Given the description of an element on the screen output the (x, y) to click on. 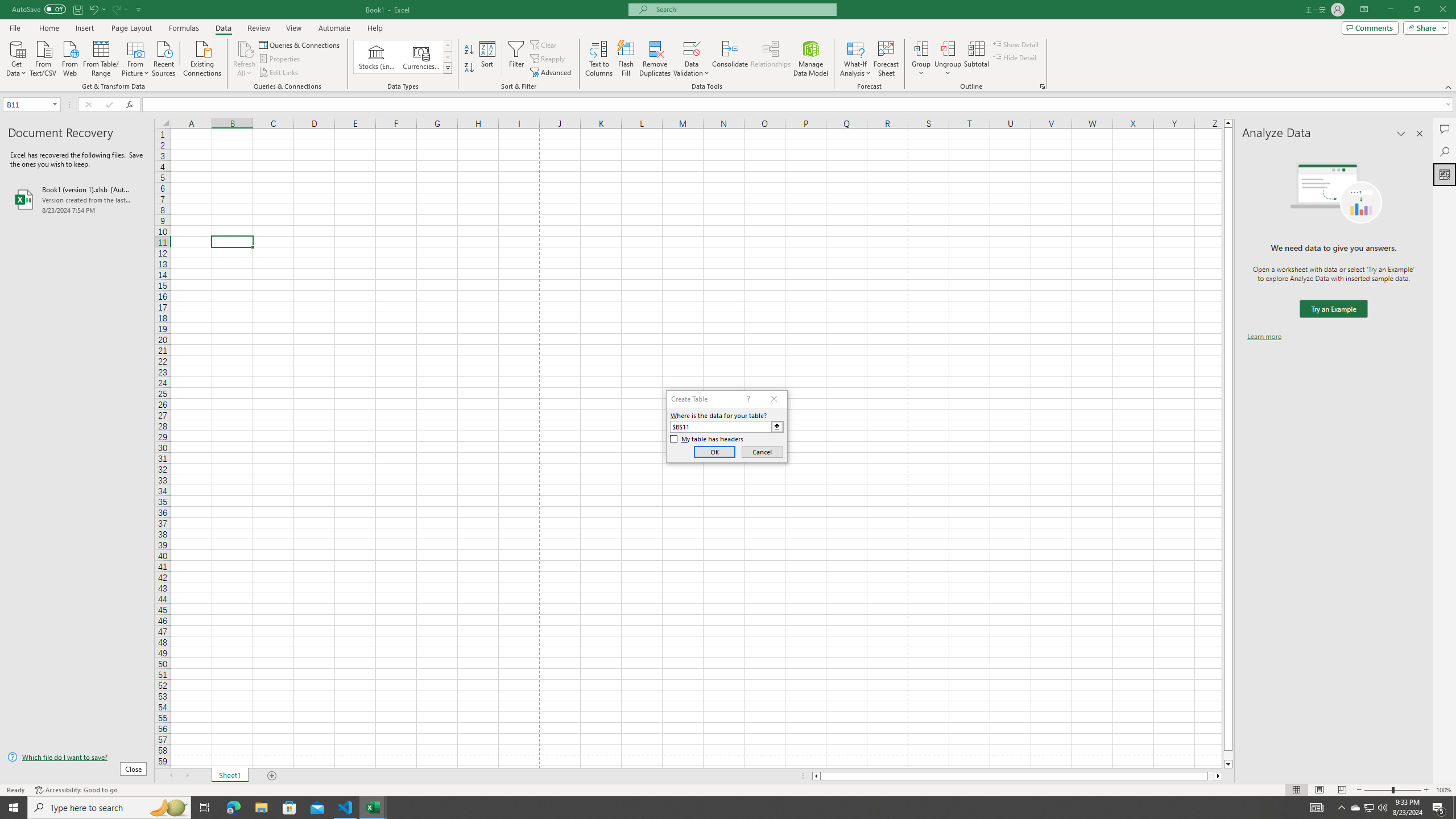
Search (1444, 151)
From Picture (135, 57)
Stocks (English) (375, 56)
Consolidate... (729, 58)
Manage Data Model (810, 58)
Subtotal (976, 58)
Group and Outline Settings (1042, 85)
Edit Links (279, 72)
